Given the description of an element on the screen output the (x, y) to click on. 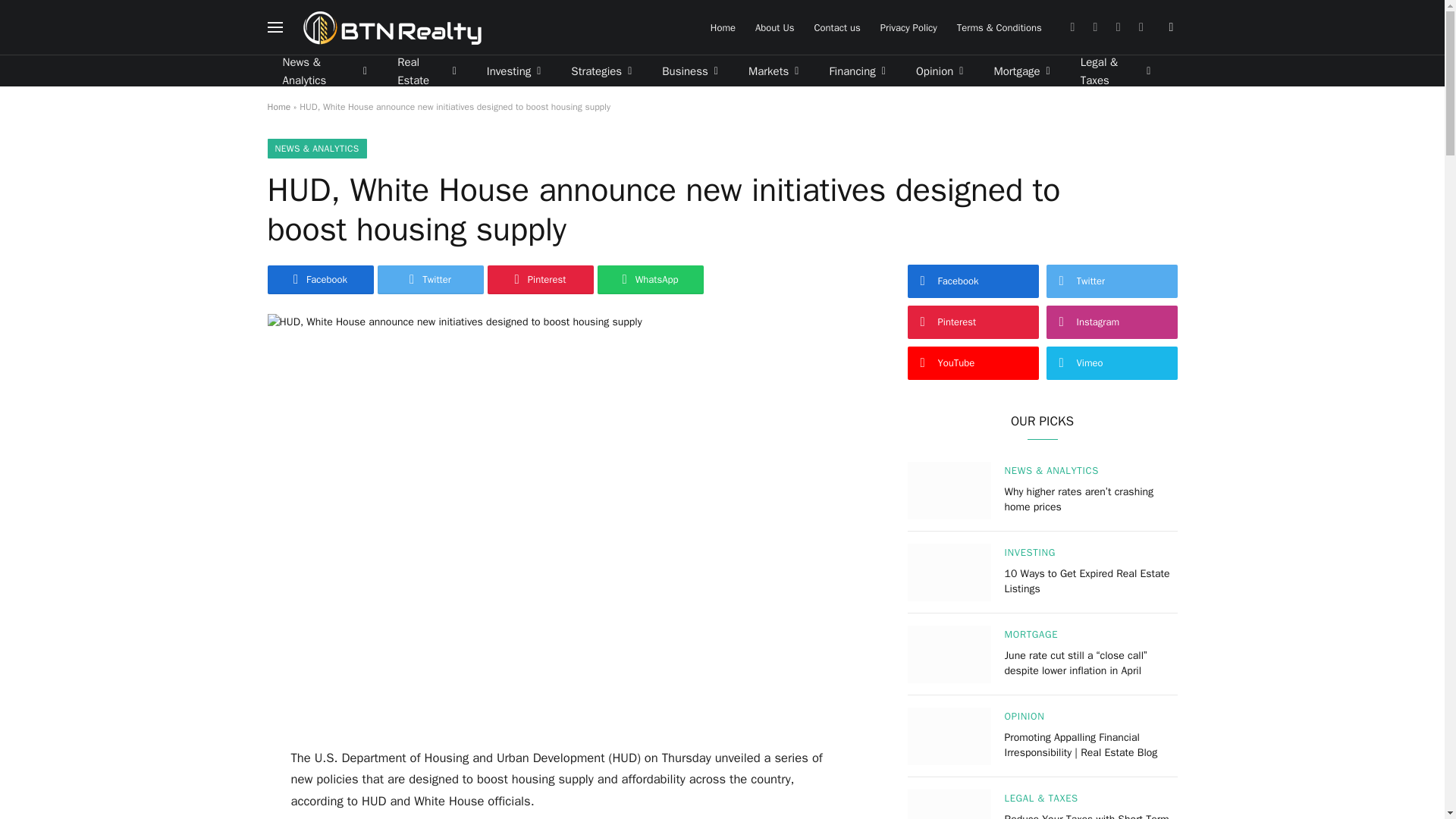
Contact us (836, 27)
About Us (774, 27)
Switch to Dark Design - easier on eyes. (1168, 27)
Instagram (1117, 27)
Facebook (1071, 27)
Pinterest (1140, 27)
Home (722, 27)
BTN Realty (392, 27)
Privacy Policy (908, 27)
